Given the description of an element on the screen output the (x, y) to click on. 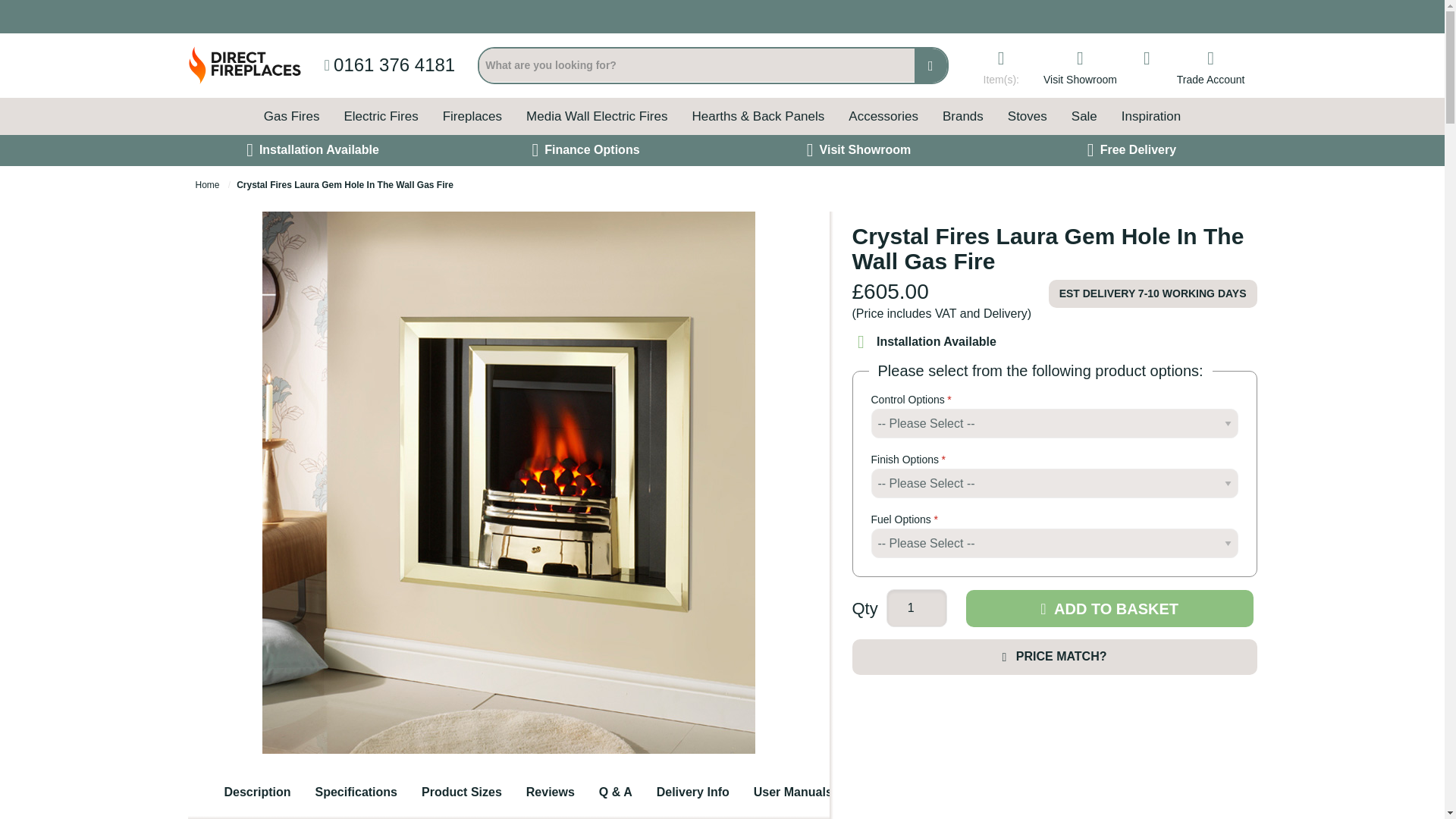
Est Delivery 7-10 Working Days (1152, 293)
Direct Fireplaces Logo (244, 64)
Electric Fires (380, 116)
Visit Showroom (1079, 65)
1 (916, 607)
Installation Available (949, 342)
Gas Fires (291, 116)
Go to Home Page (208, 184)
Trade Account (1210, 65)
Search (930, 64)
Add to Basket (1109, 608)
Search (930, 64)
Qty (916, 607)
